Given the description of an element on the screen output the (x, y) to click on. 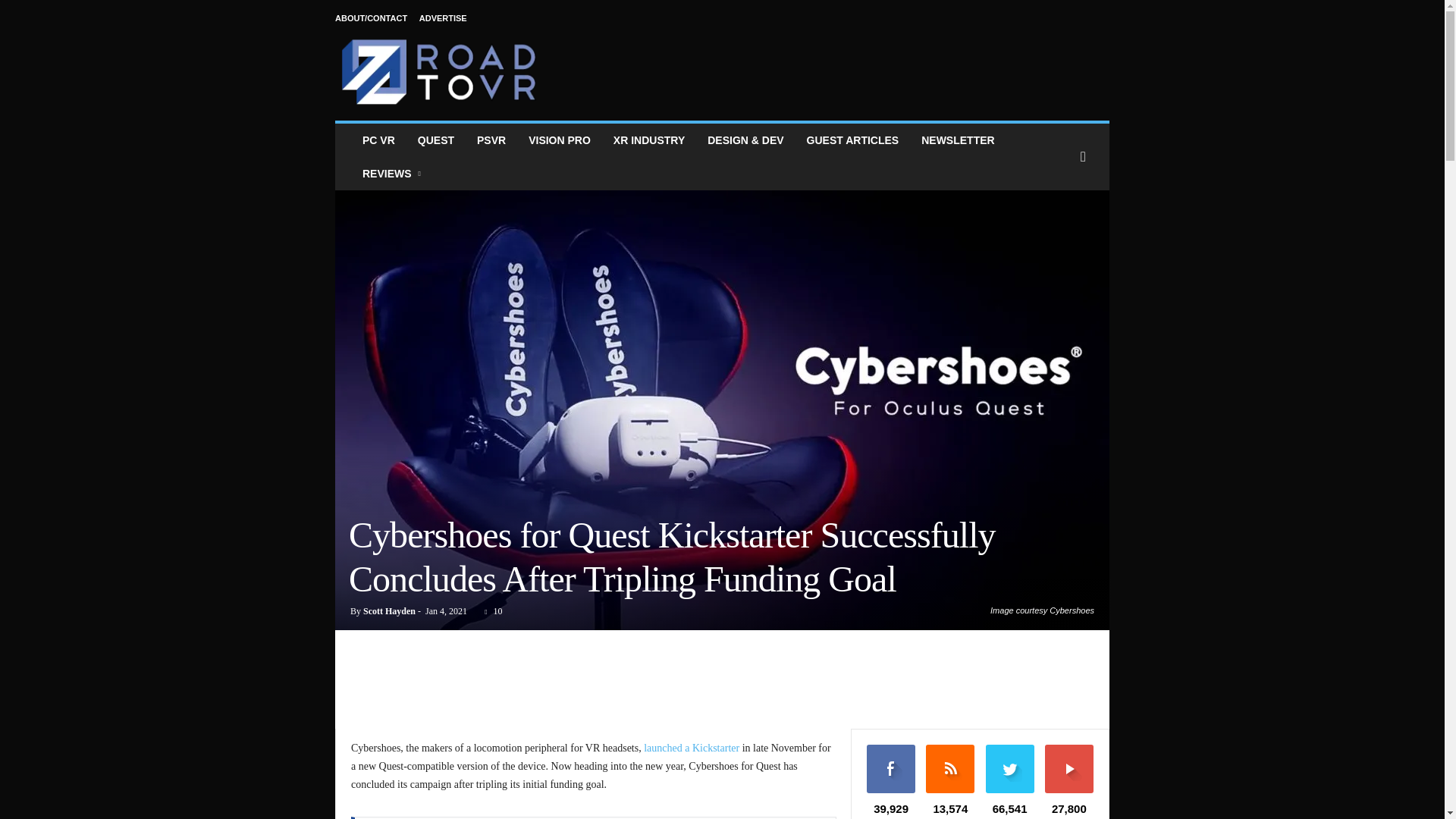
XR INDUSTRY (648, 140)
3rd party ad content (722, 683)
REVIEWS (392, 173)
ADVERTISE (443, 17)
AR VR MR XR News (648, 140)
QUEST (435, 140)
PSVR (490, 140)
Scott Hayden (388, 611)
launched a Kickstarter (691, 747)
3rd party ad content (833, 61)
PC VR (378, 140)
VISION PRO (559, 140)
NEWSLETTER (958, 140)
GUEST ARTICLES (852, 140)
